Given the description of an element on the screen output the (x, y) to click on. 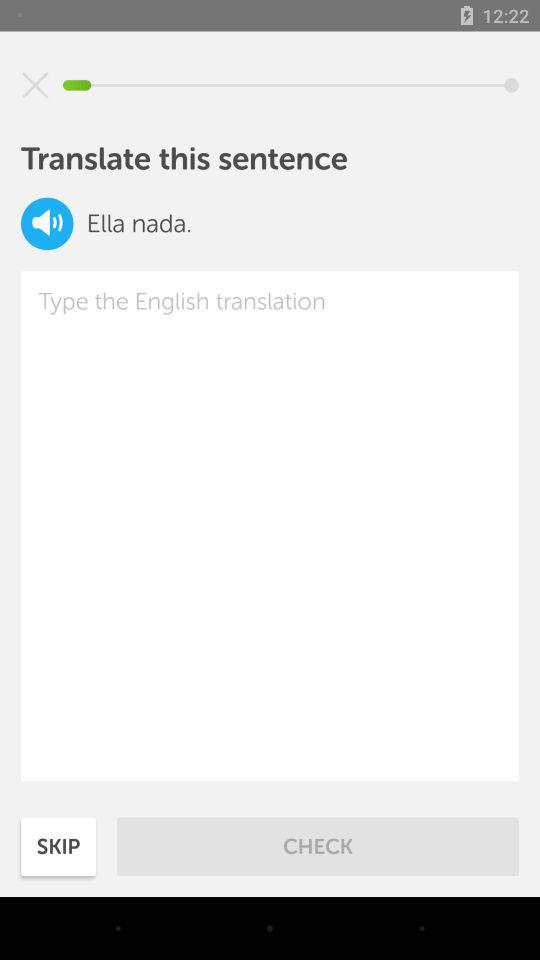
open the item to the left of the ella item (47, 223)
